Given the description of an element on the screen output the (x, y) to click on. 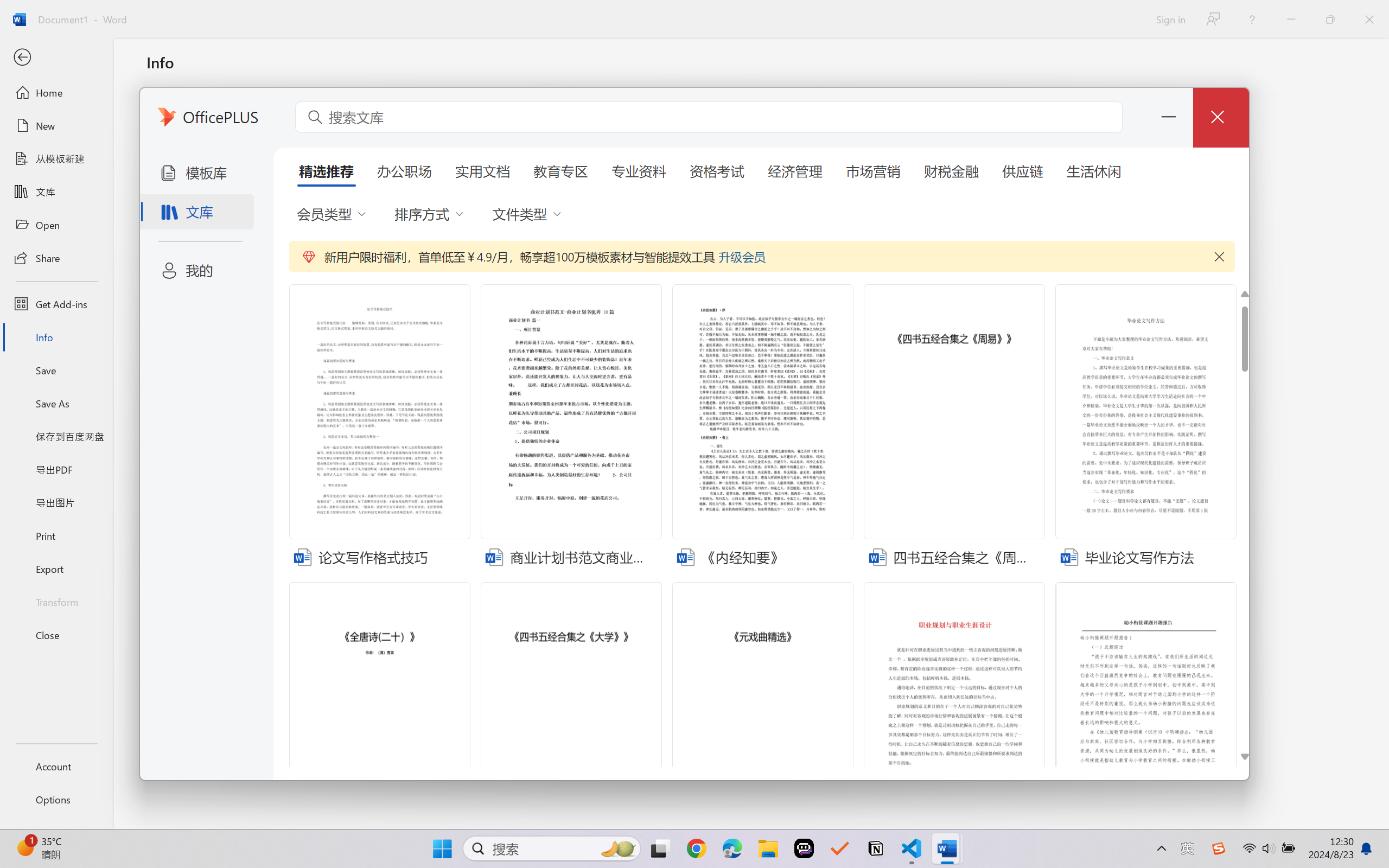
Transform (56, 601)
New (56, 125)
Class: ___510cvc0 f64fuq3 fjamq6b f11u7vat (1068, 555)
